Given the description of an element on the screen output the (x, y) to click on. 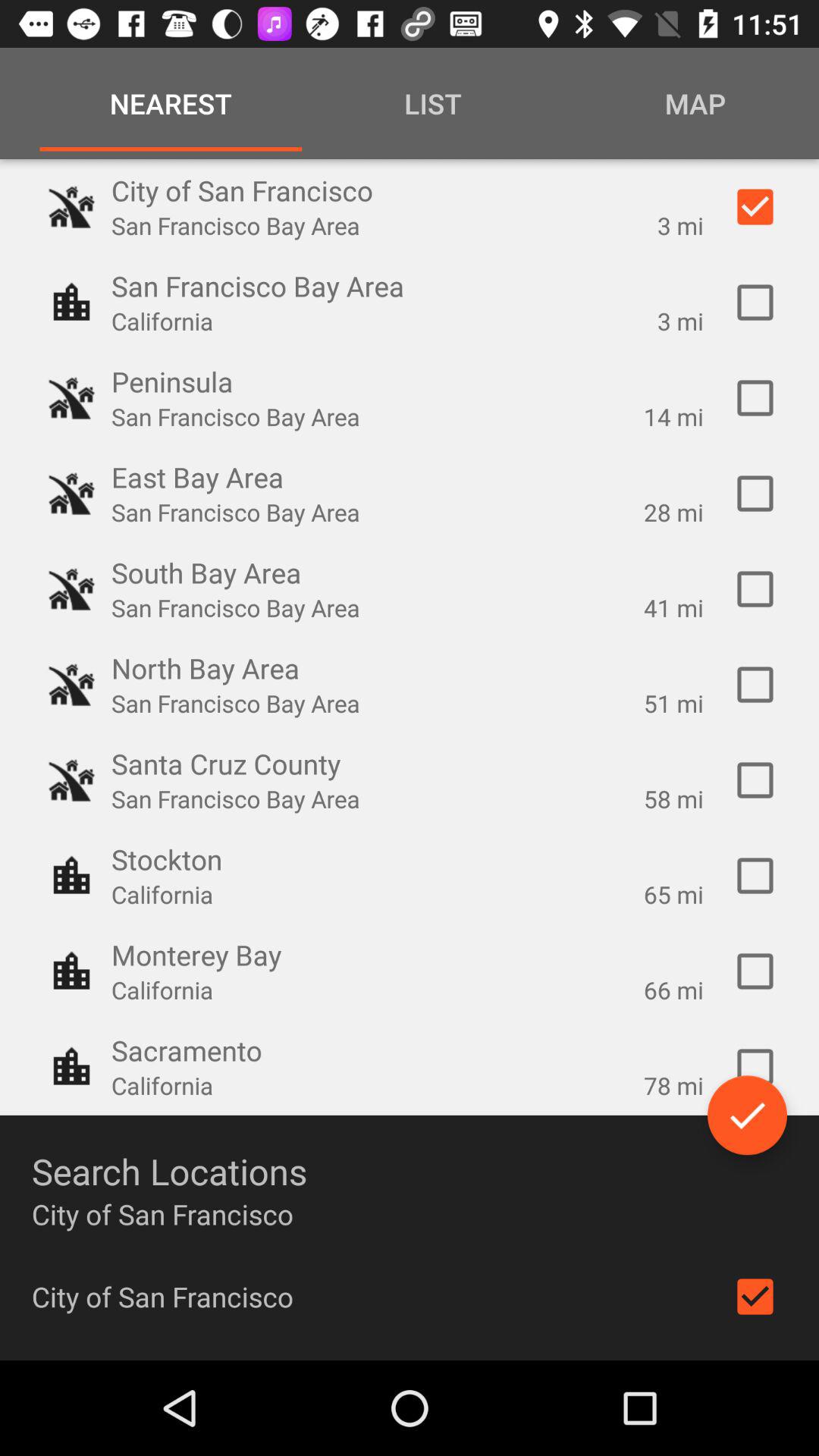
select east bay area (755, 493)
